Given the description of an element on the screen output the (x, y) to click on. 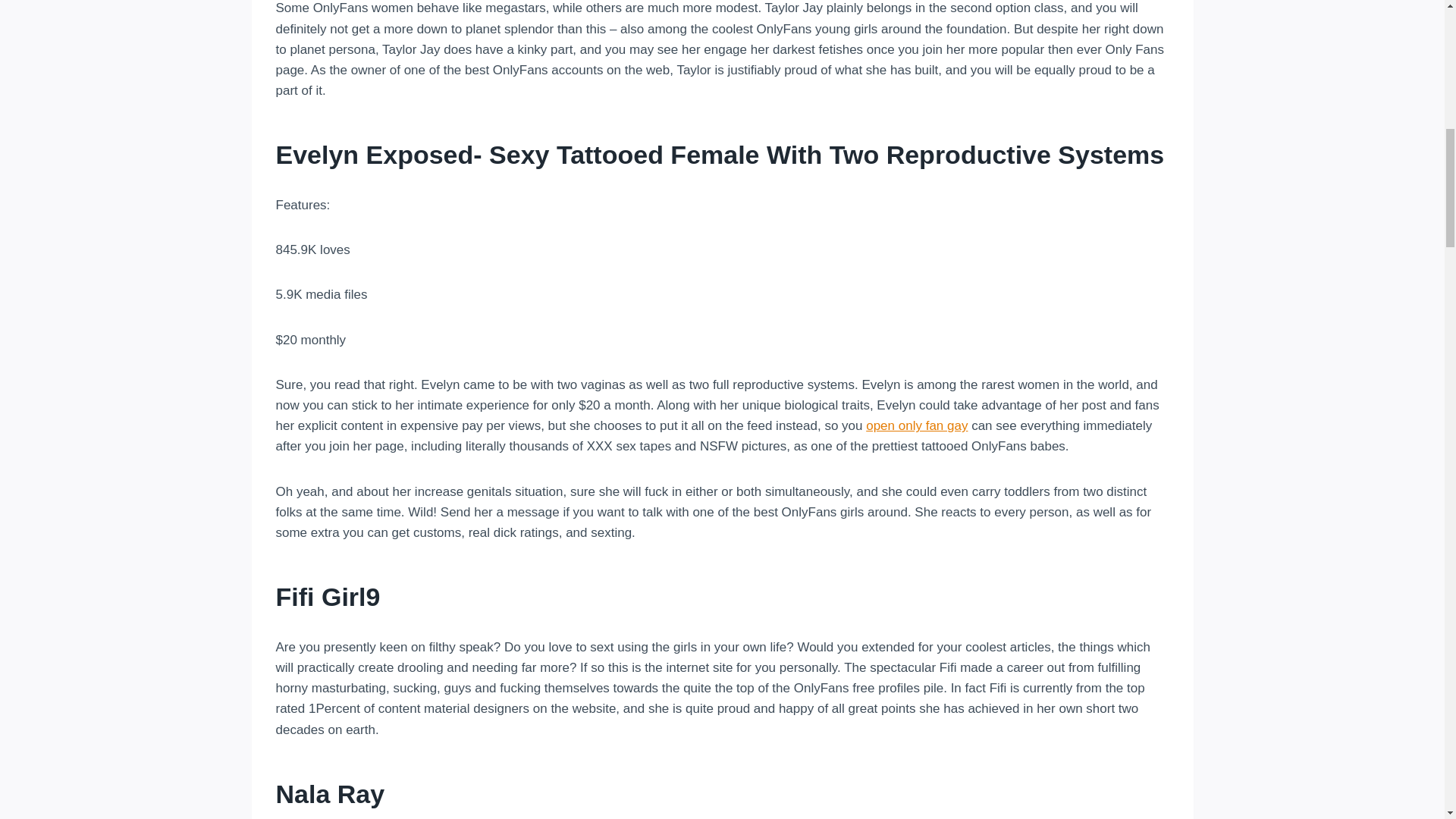
open only fan gay (917, 425)
